Given the description of an element on the screen output the (x, y) to click on. 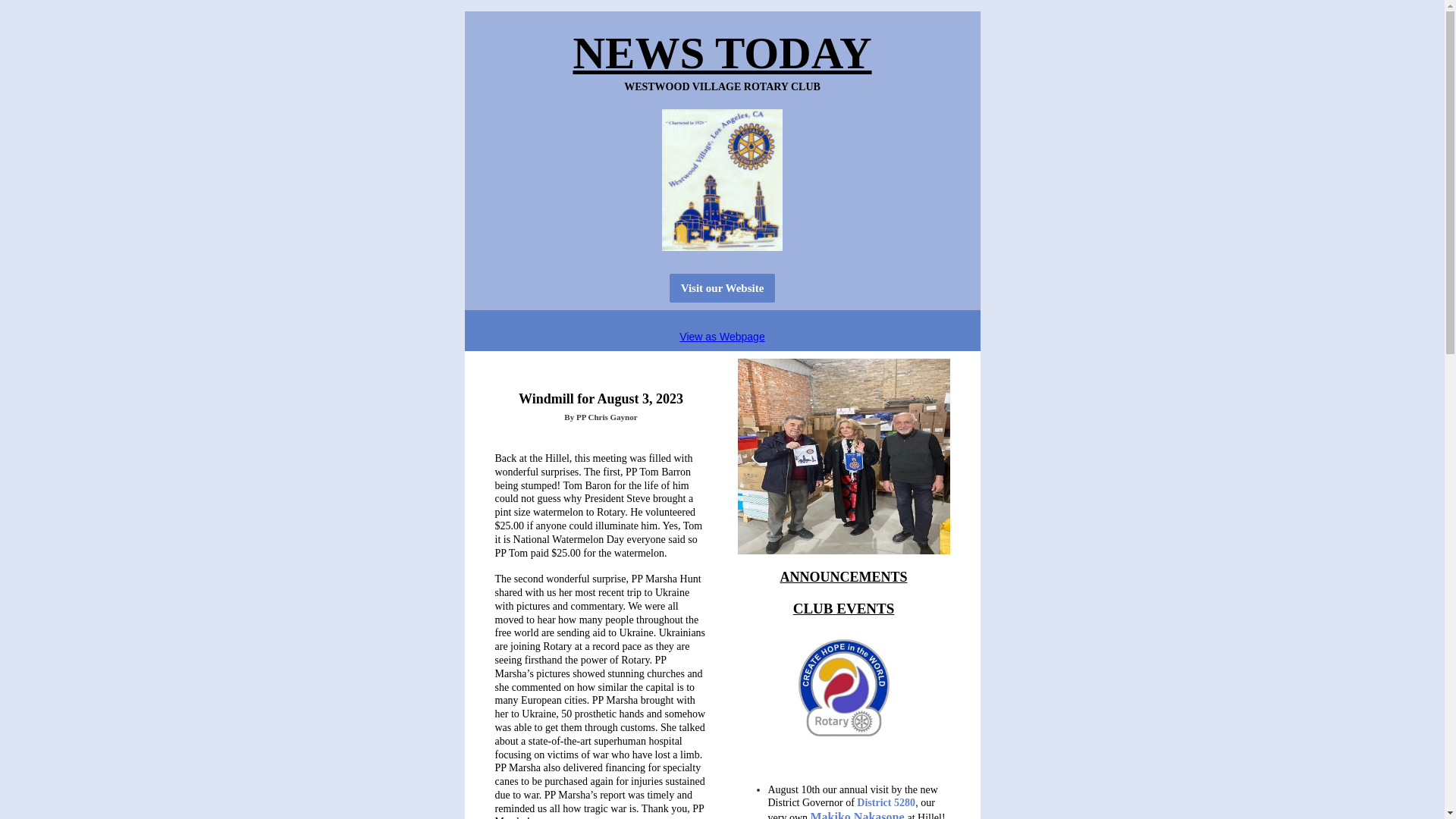
District 5280 (886, 802)
Visit our Website (722, 287)
View as Webpage (721, 336)
Makiko Nakasone (856, 814)
